Given the description of an element on the screen output the (x, y) to click on. 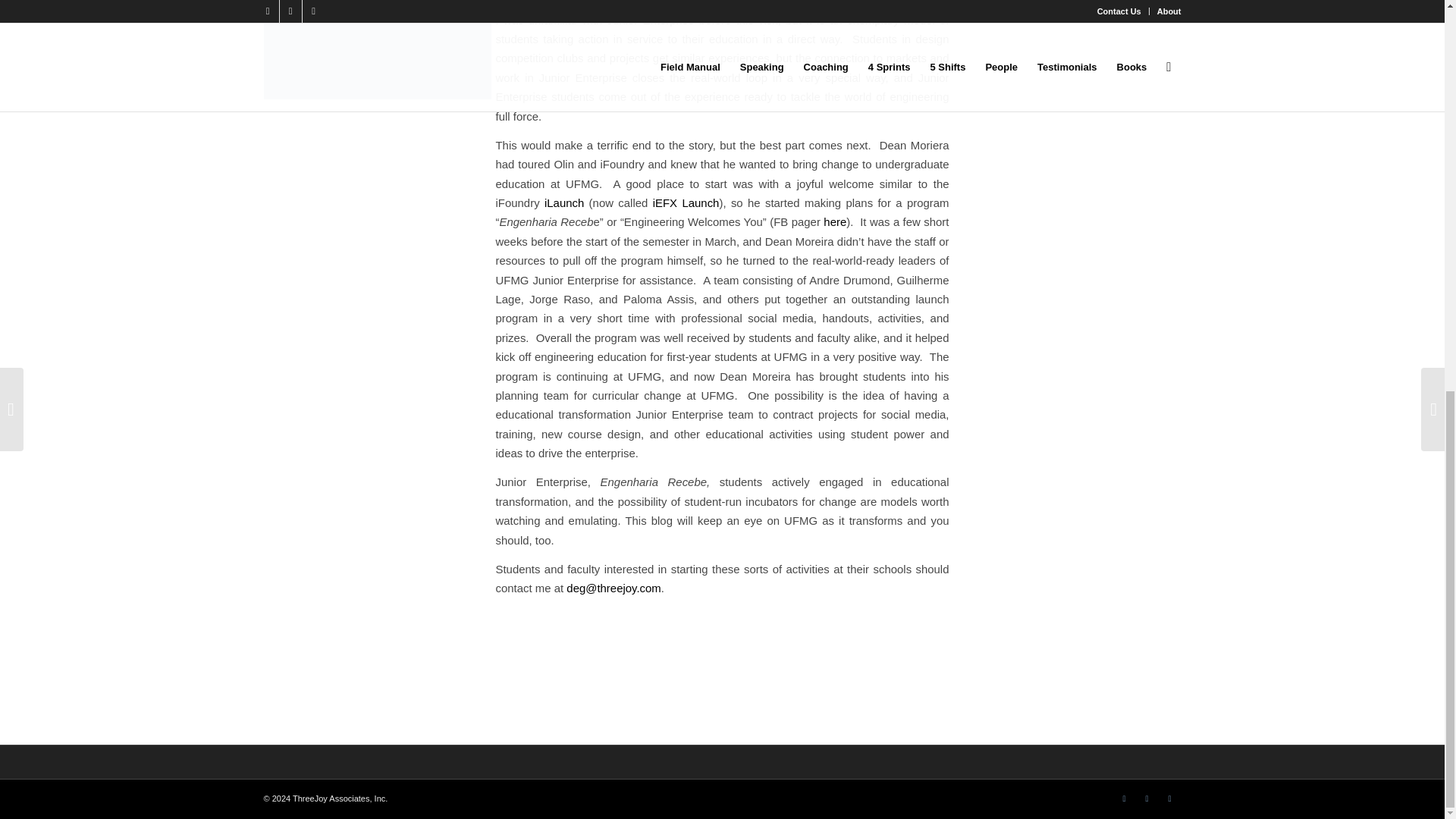
Twitter (1124, 798)
iEFX Launch (685, 202)
here (834, 221)
iLaunch (563, 202)
Facebook (1146, 798)
LinkedIn (1169, 798)
